Given the description of an element on the screen output the (x, y) to click on. 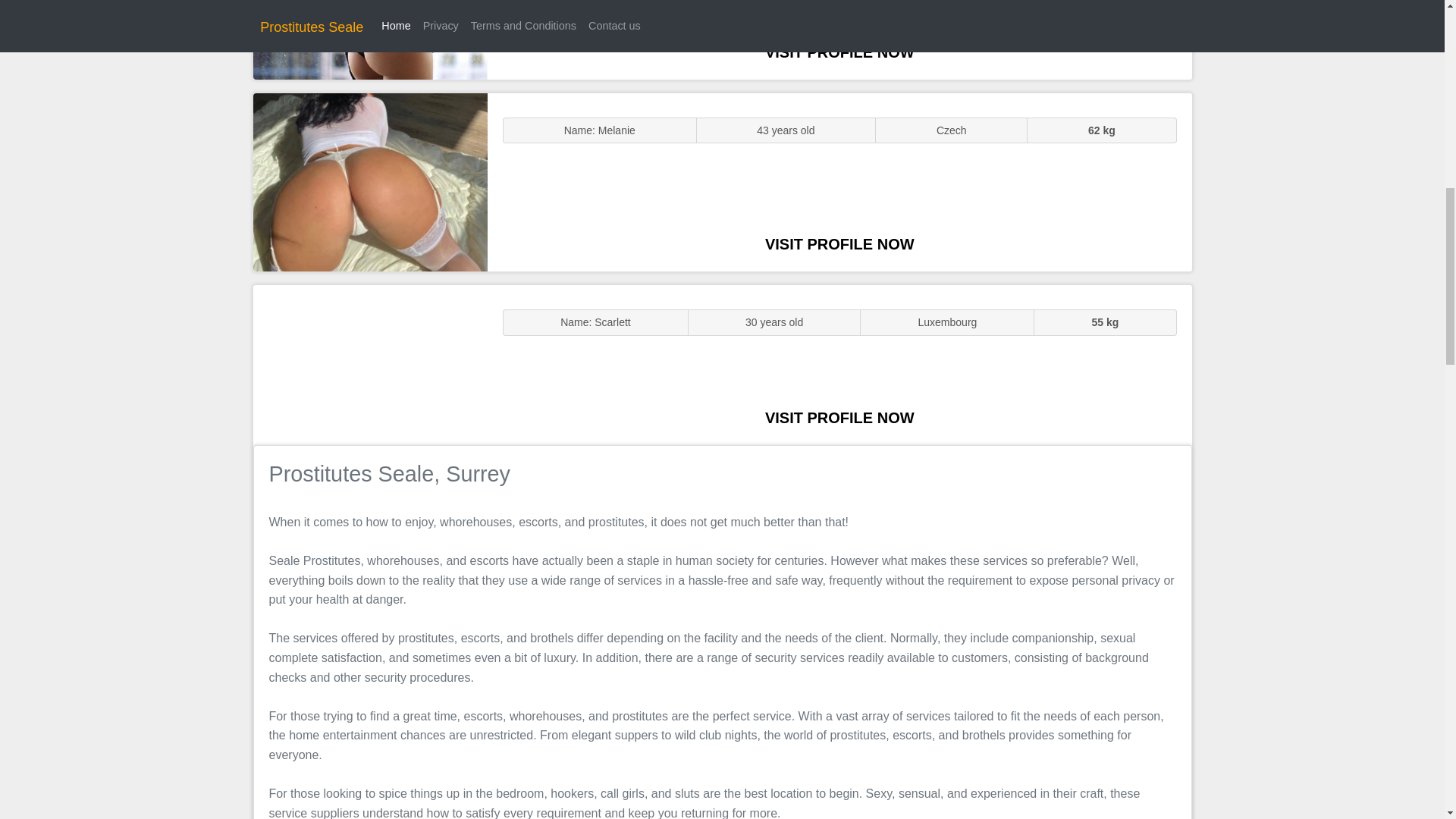
Sluts (370, 182)
VISIT PROFILE NOW (839, 417)
Massage (370, 364)
VISIT PROFILE NOW (839, 243)
Sluts (370, 39)
VISIT PROFILE NOW (839, 52)
